Given the description of an element on the screen output the (x, y) to click on. 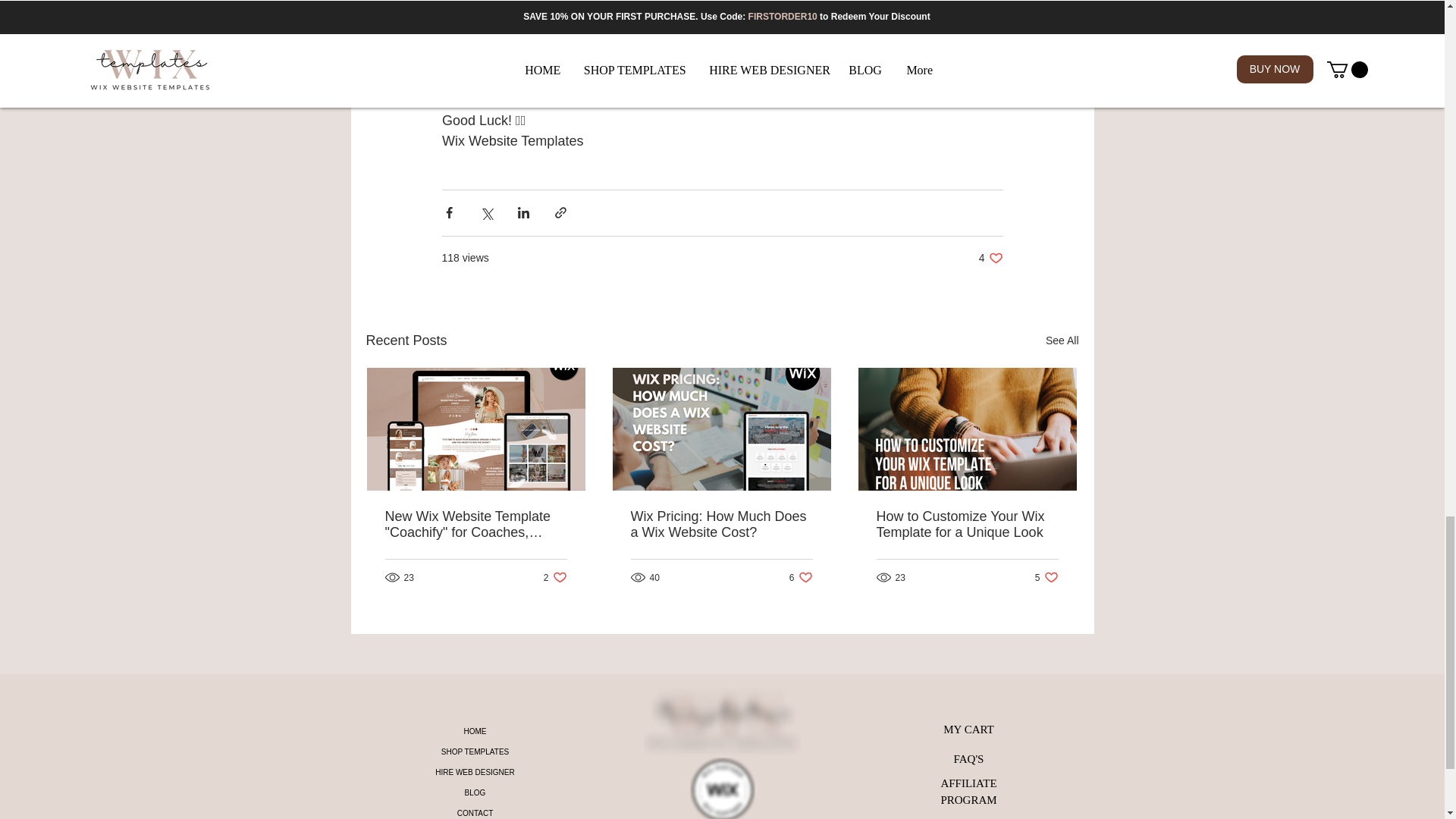
HOME (475, 731)
See All (1061, 341)
HIRE WEB DESIGNER (475, 772)
Wix Pricing: How Much Does a Wix Website Cost? (721, 524)
MY CART (967, 728)
CONTACT (990, 257)
BLOG (555, 577)
